Given the description of an element on the screen output the (x, y) to click on. 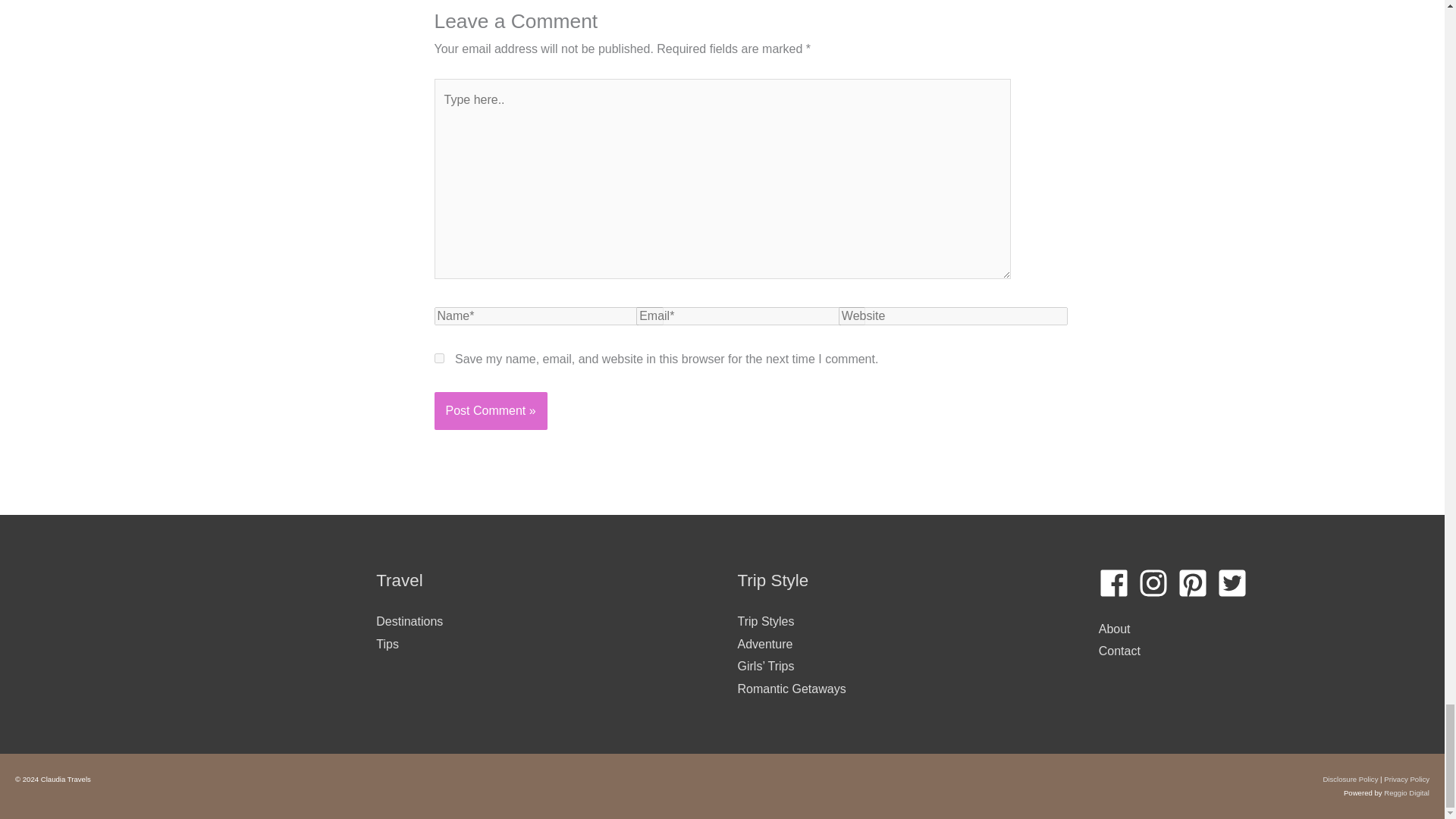
yes (438, 357)
